Given the description of an element on the screen output the (x, y) to click on. 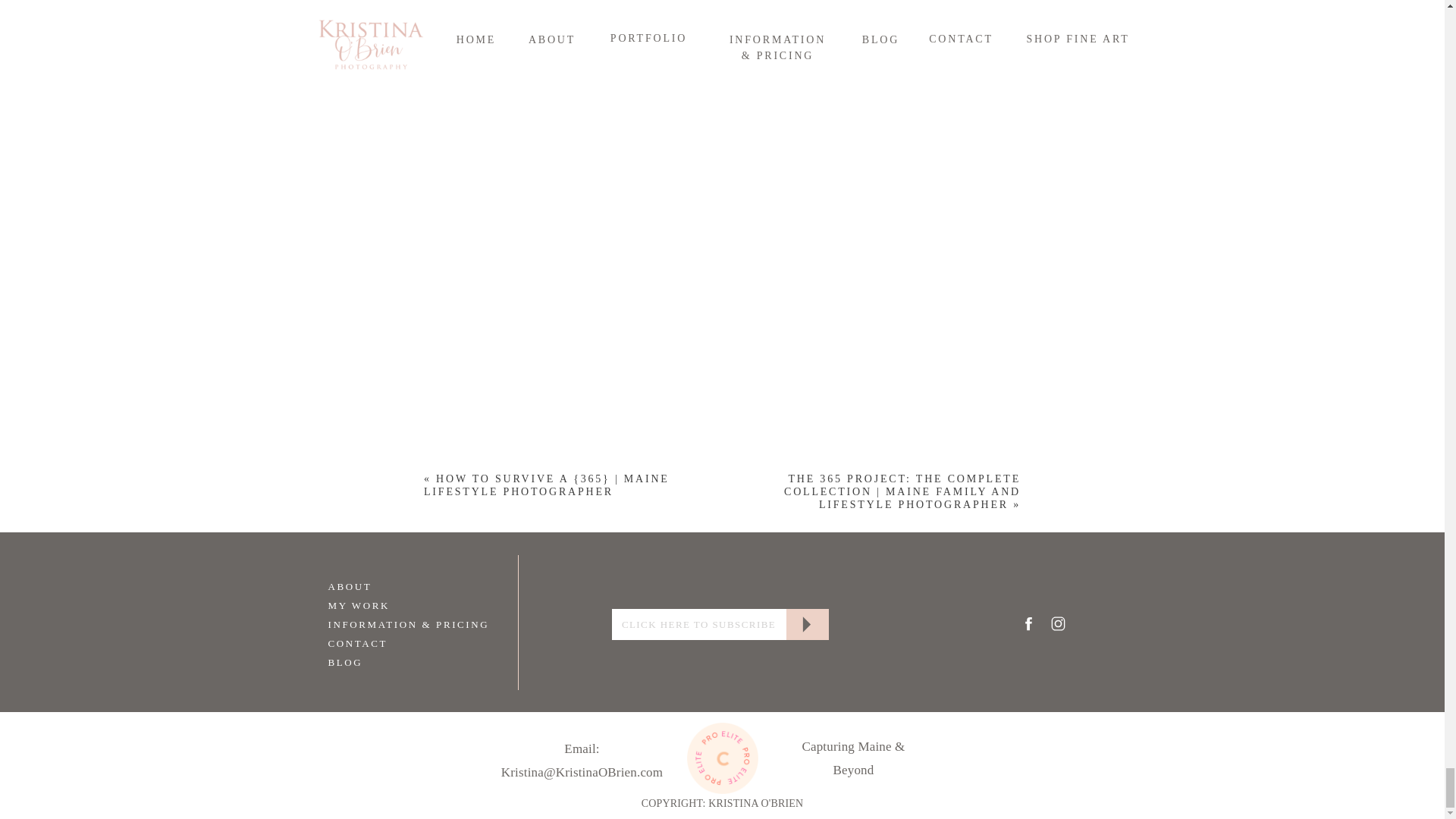
BLOG (384, 661)
CONTACT (384, 642)
ABOUT (384, 585)
COPYRIGHT: KRISTINA O'BRIEN (722, 803)
MY WORK (384, 604)
